Given the description of an element on the screen output the (x, y) to click on. 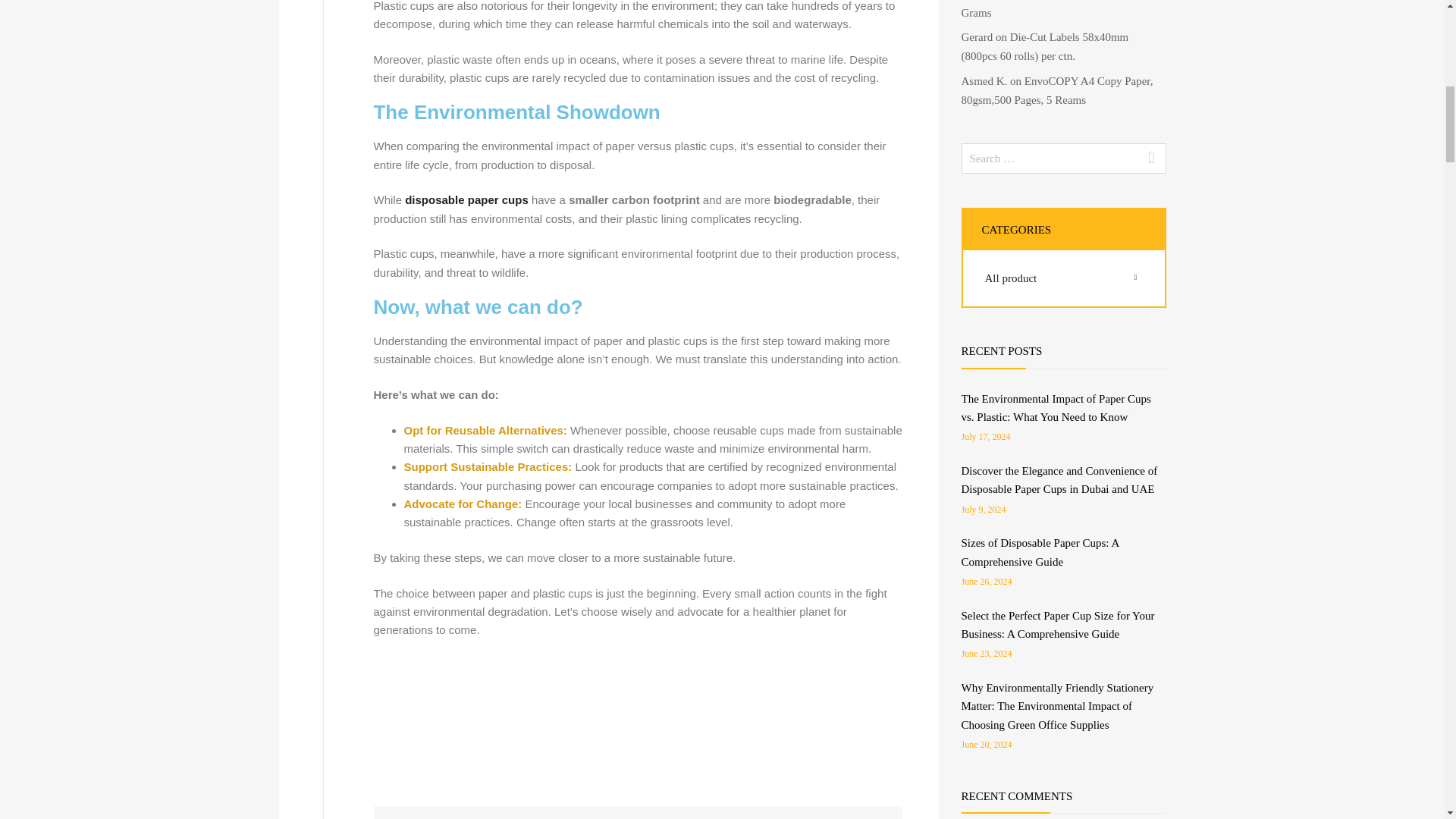
disposable paper cups (466, 199)
